Given the description of an element on the screen output the (x, y) to click on. 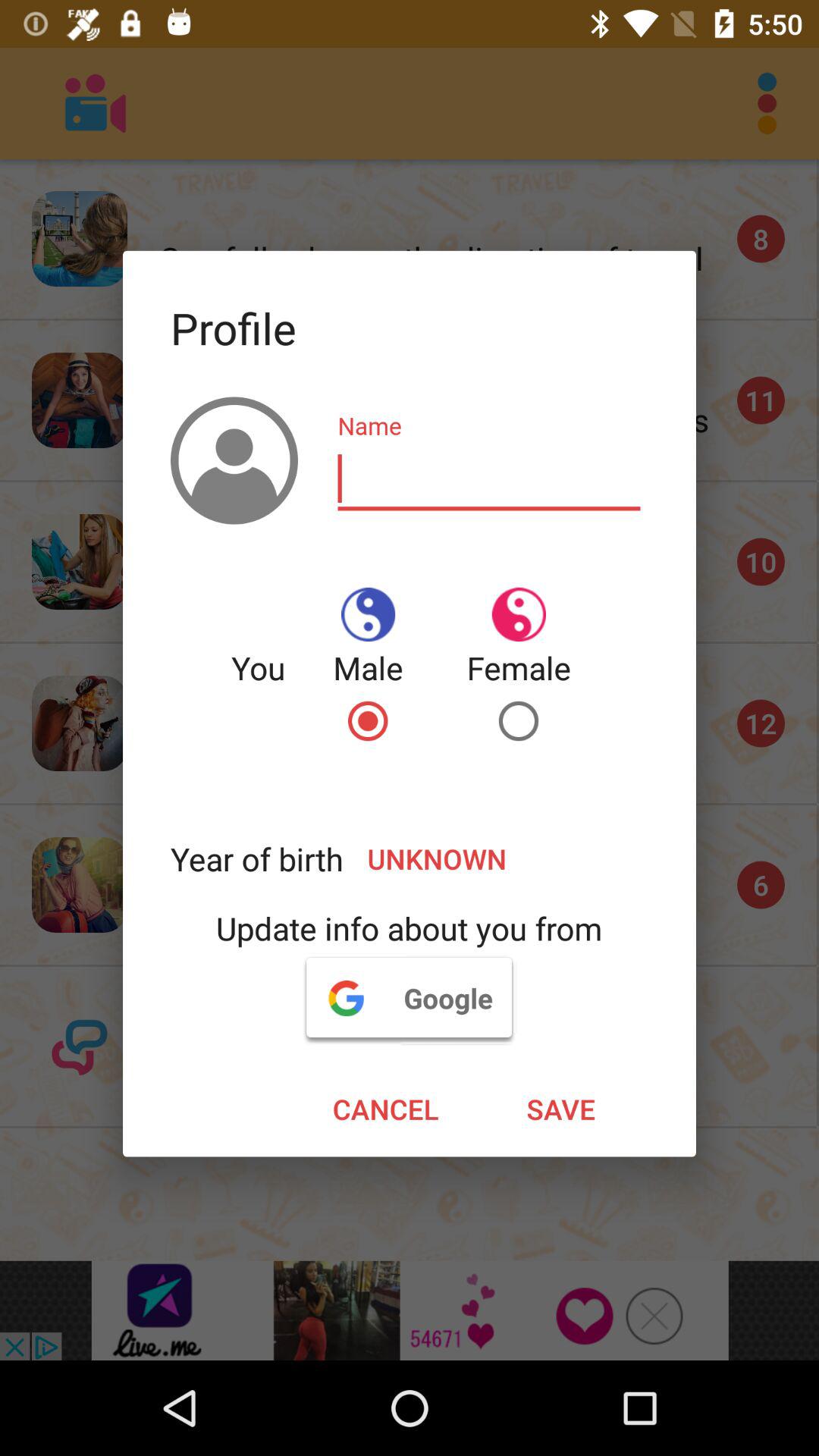
choose the item below the update info about icon (408, 997)
